Given the description of an element on the screen output the (x, y) to click on. 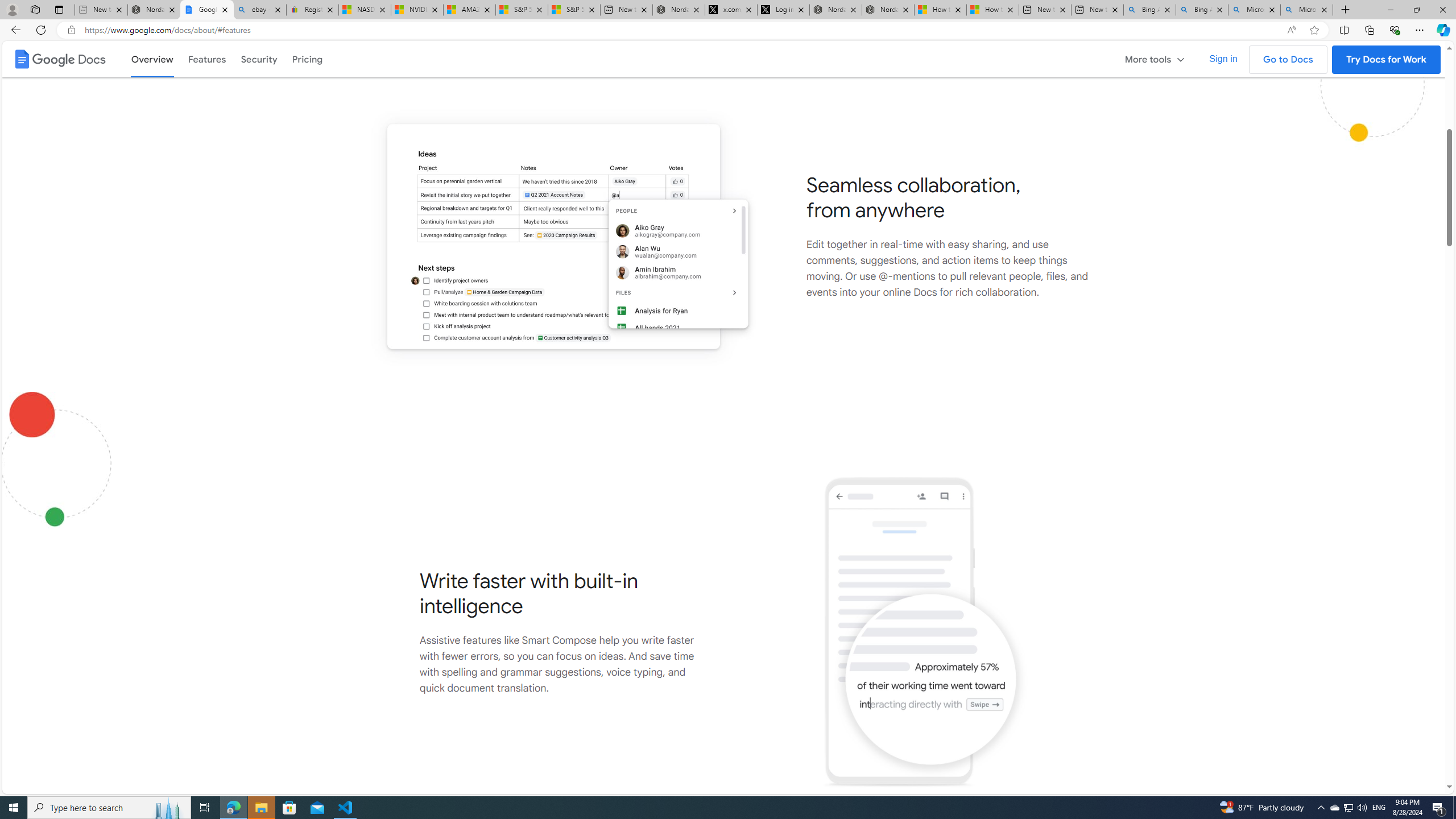
View site information (70, 29)
S&P 500, Nasdaq end lower, weighed by Nvidia dip | Watch (574, 9)
Read aloud this page (Ctrl+Shift+U) (1291, 29)
Address and search bar (680, 29)
Register: Create a personal eBay account (312, 9)
x.com/NordaceOfficial (730, 9)
How to Use a Monitor With Your Closed Laptop (992, 9)
ebay - Search (259, 9)
Log in to X / X (782, 9)
